Given the description of an element on the screen output the (x, y) to click on. 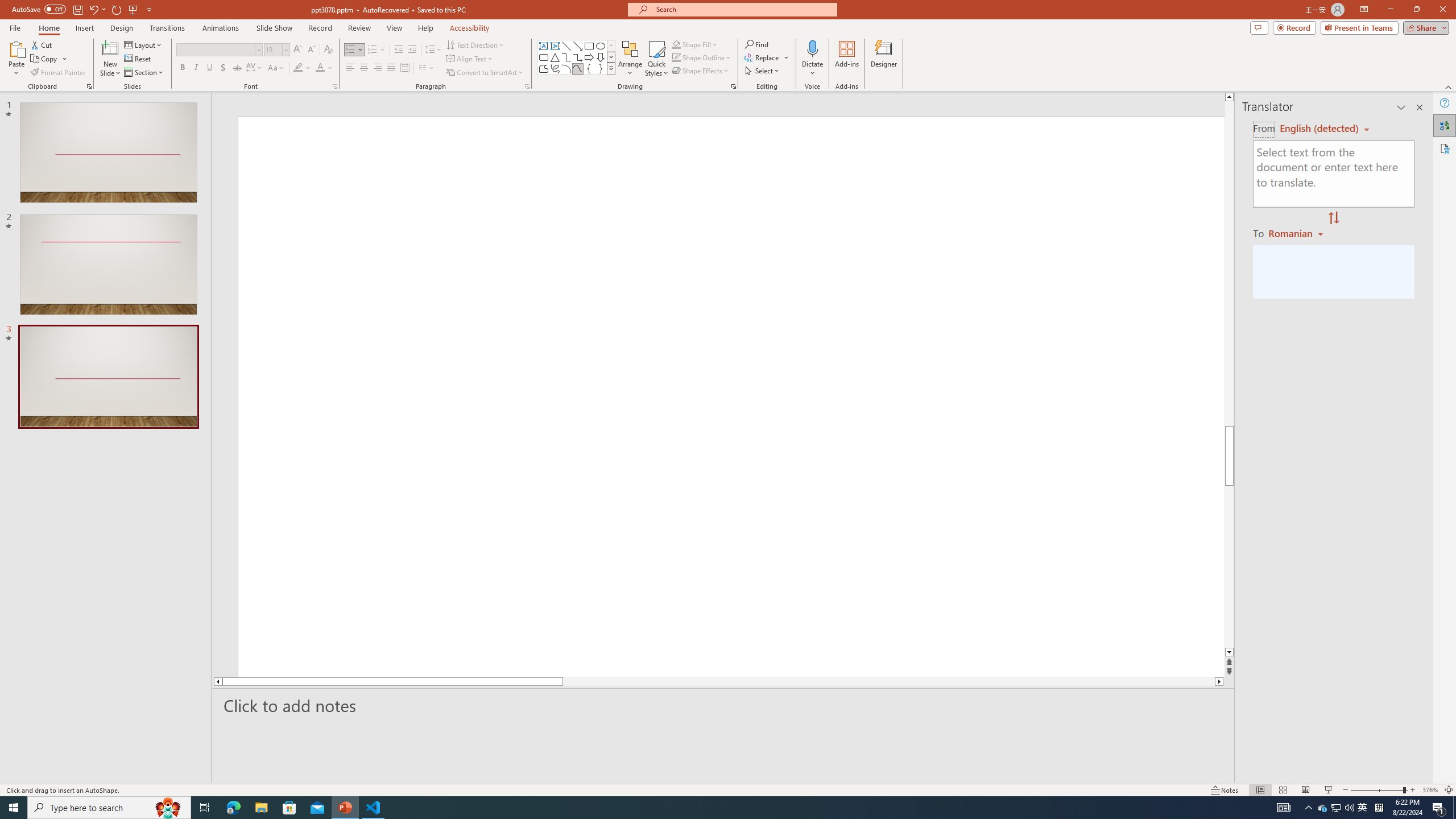
Shape Fill Dark Green, Accent 2 (675, 44)
Czech (detected) (1319, 128)
